Given the description of an element on the screen output the (x, y) to click on. 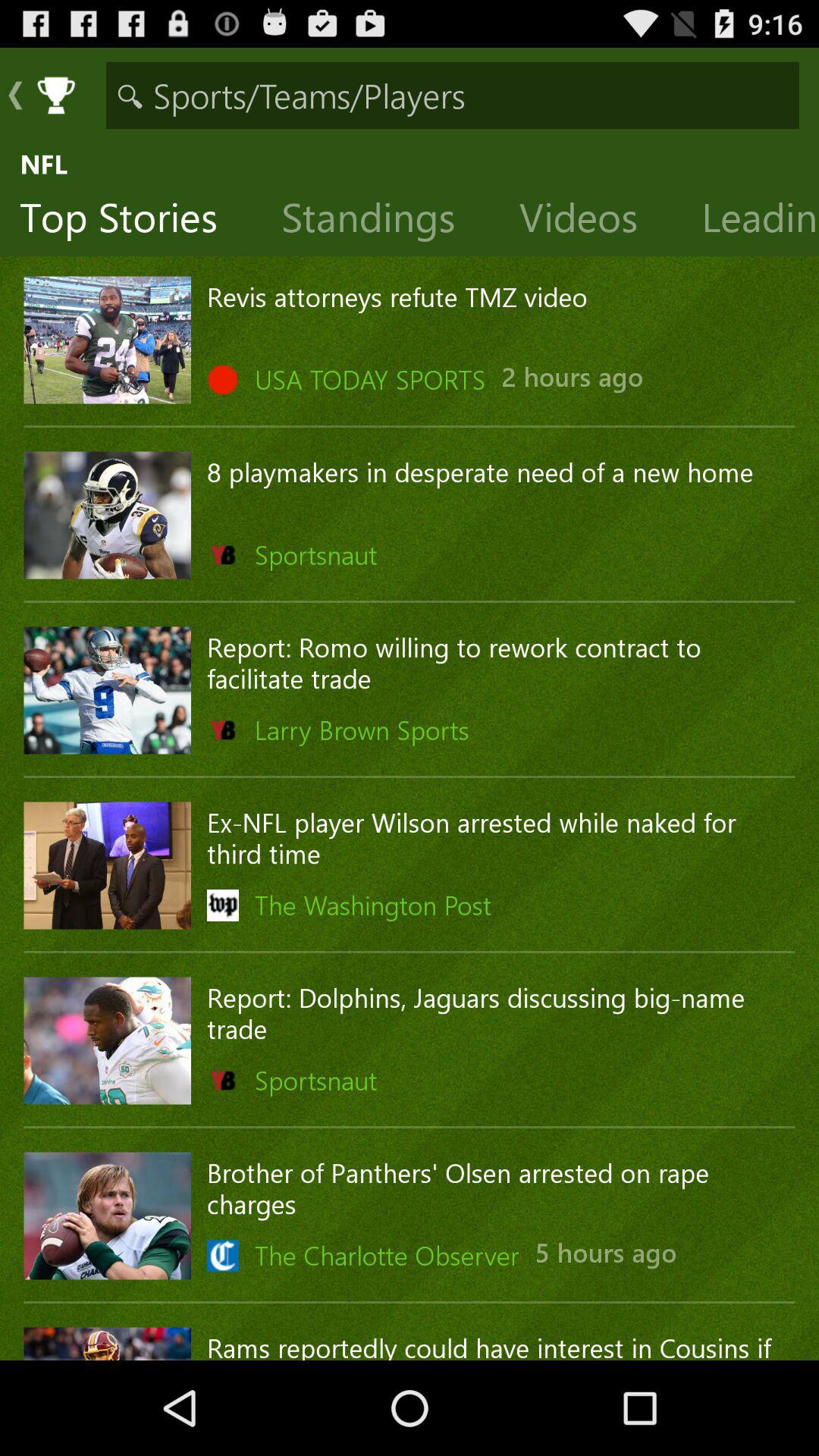
select the item above revis attorneys refute icon (590, 220)
